Given the description of an element on the screen output the (x, y) to click on. 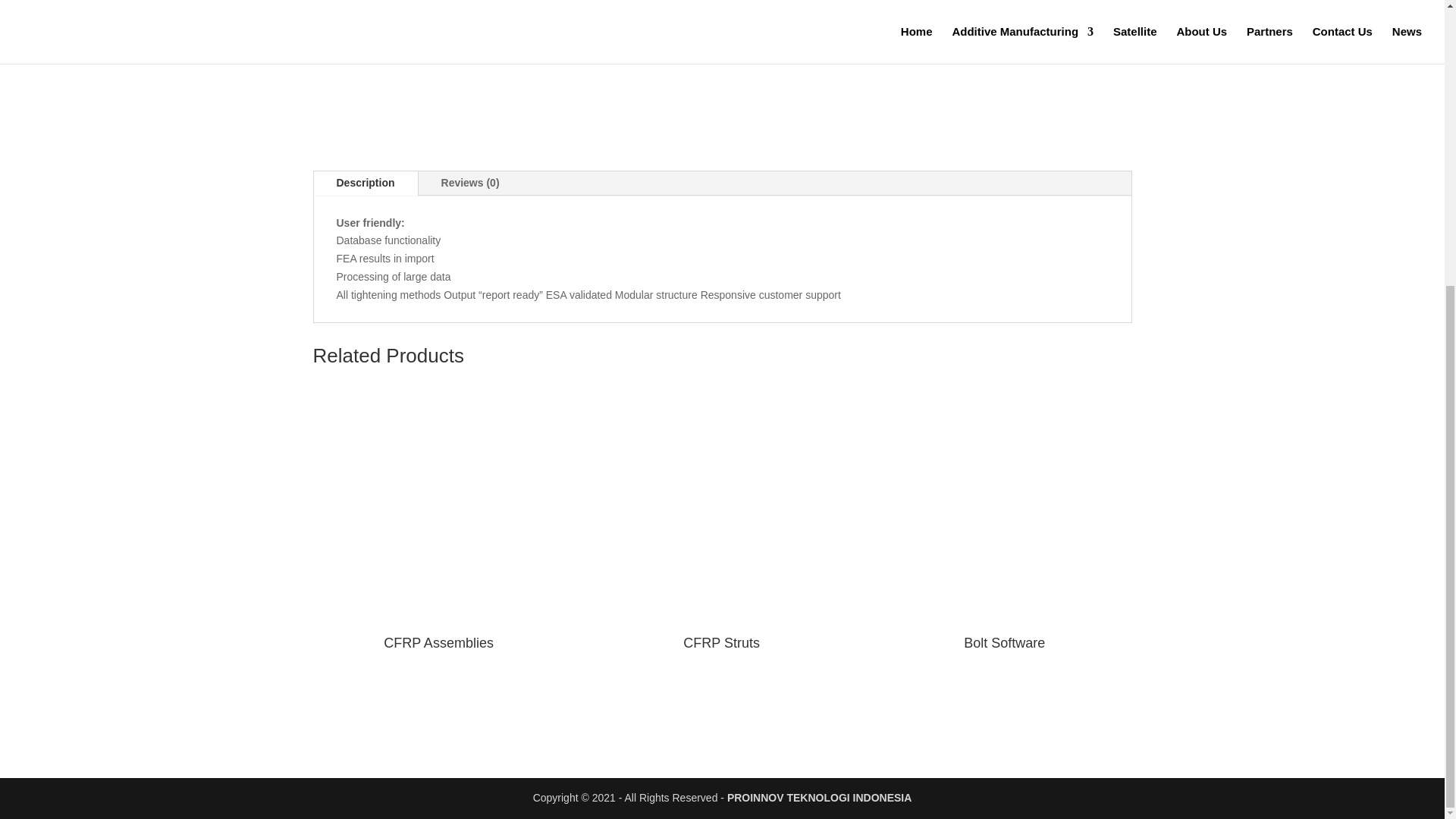
Description (365, 183)
Bolt Software (1005, 516)
CFRP Struts (721, 516)
CFRP Assemblies (438, 516)
